Given the description of an element on the screen output the (x, y) to click on. 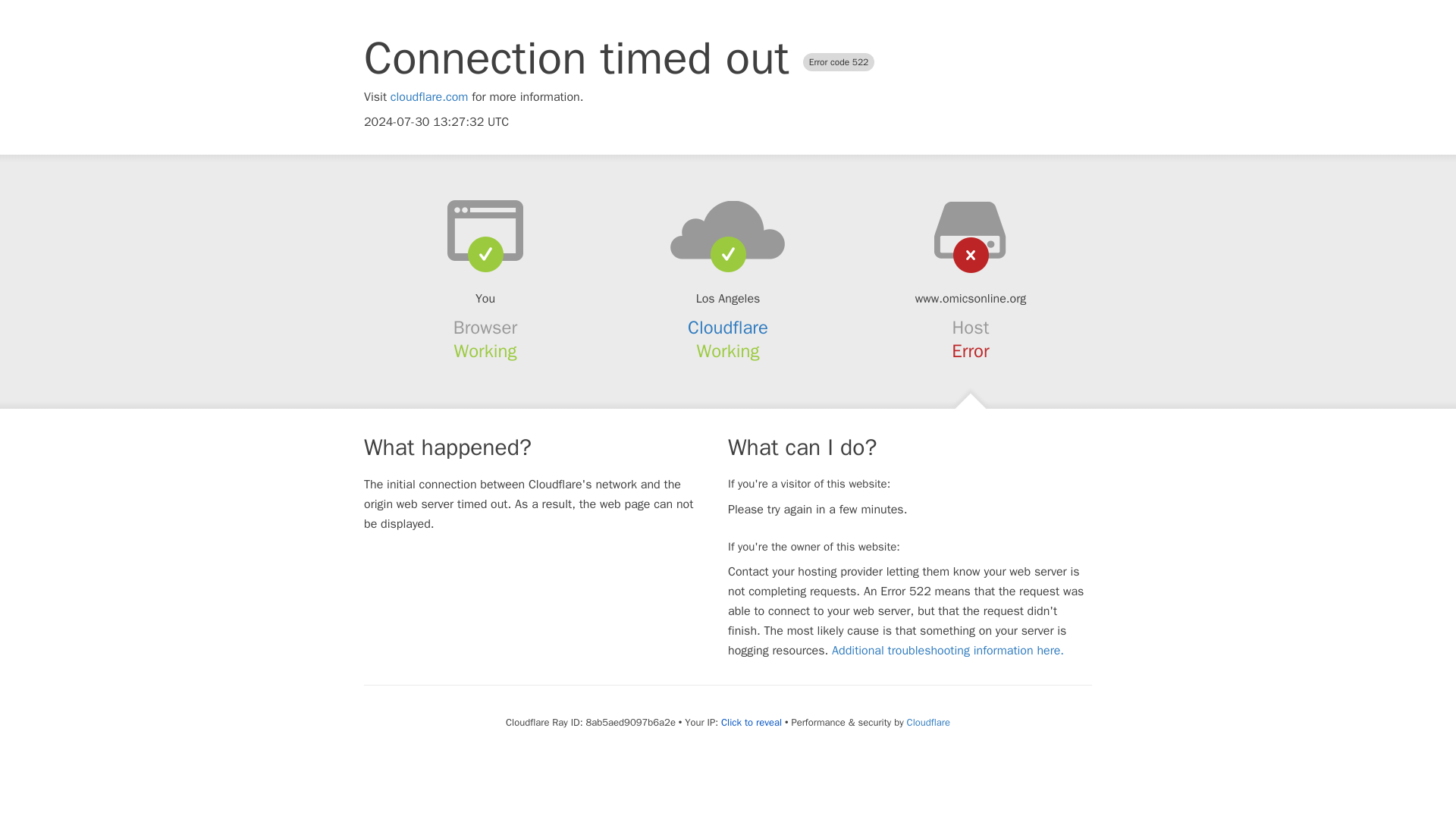
Additional troubleshooting information here. (947, 650)
Cloudflare (727, 327)
cloudflare.com (429, 96)
Click to reveal (750, 722)
Cloudflare (928, 721)
